Given the description of an element on the screen output the (x, y) to click on. 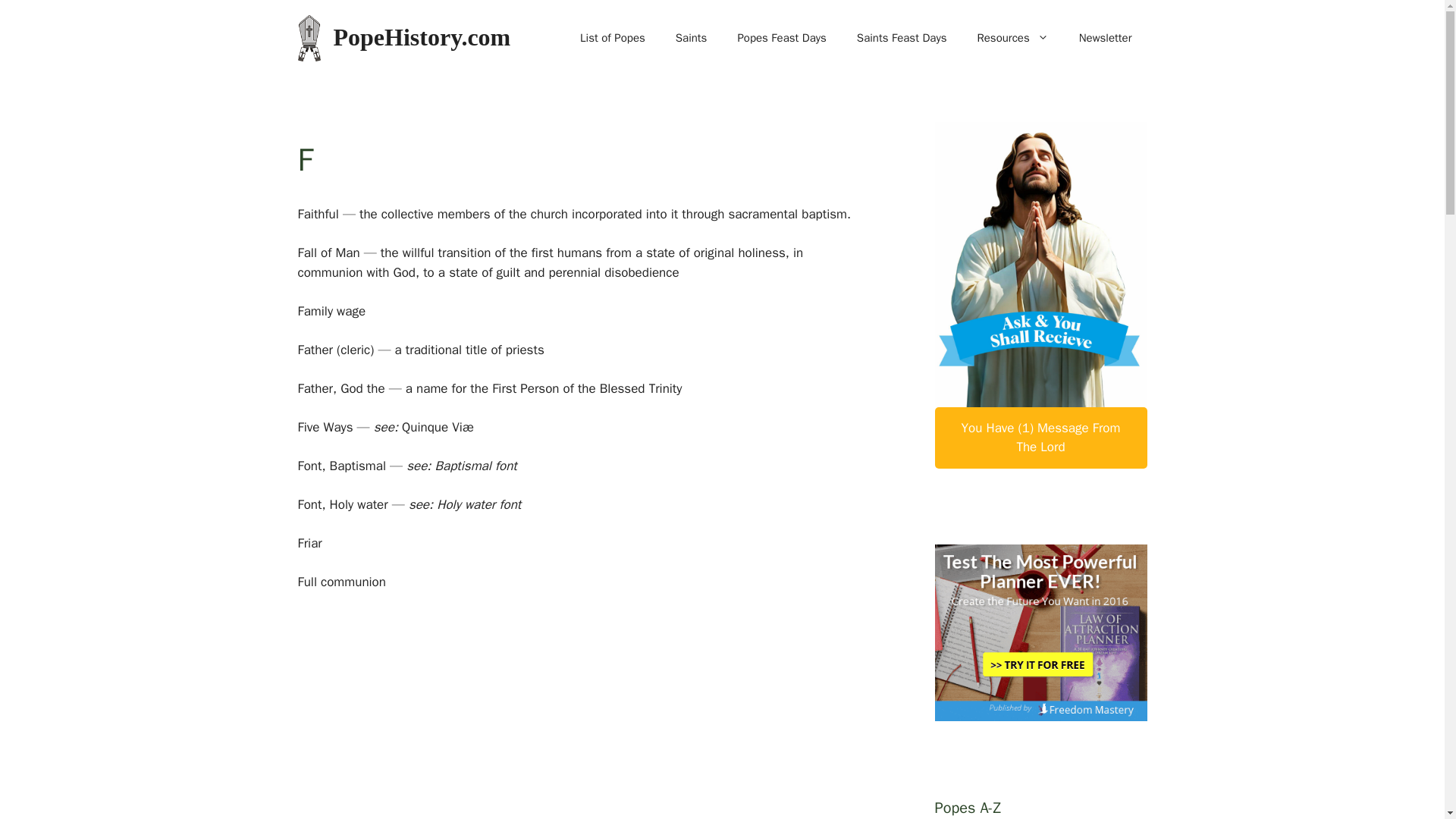
Saints Feast Days (901, 37)
Newsletter (1105, 37)
PopeHistory.com (422, 36)
Resources (1011, 37)
Saints (691, 37)
Popes Feast Days (781, 37)
List of Popes (612, 37)
